Given the description of an element on the screen output the (x, y) to click on. 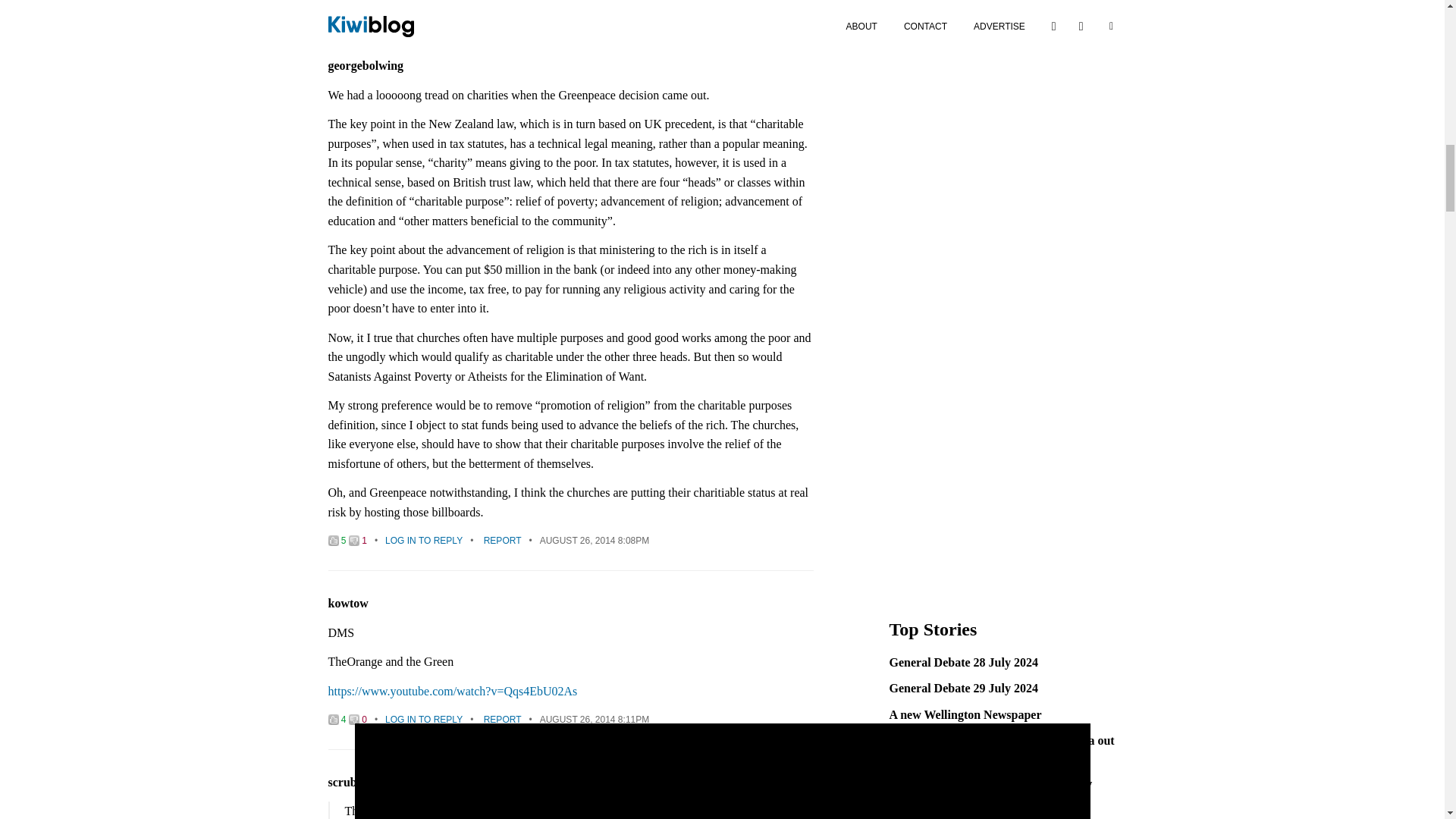
AUGUST 26, 2014 8:08PM (594, 540)
REPORT (502, 719)
LOG IN TO REPLY (424, 719)
LOG IN TO REPLY (424, 540)
AUGUST 26, 2014 8:05PM (594, 4)
AUGUST 26, 2014 8:11PM (594, 719)
LOG IN TO REPLY (424, 4)
REPORT (502, 540)
REPORT (502, 4)
